Given the description of an element on the screen output the (x, y) to click on. 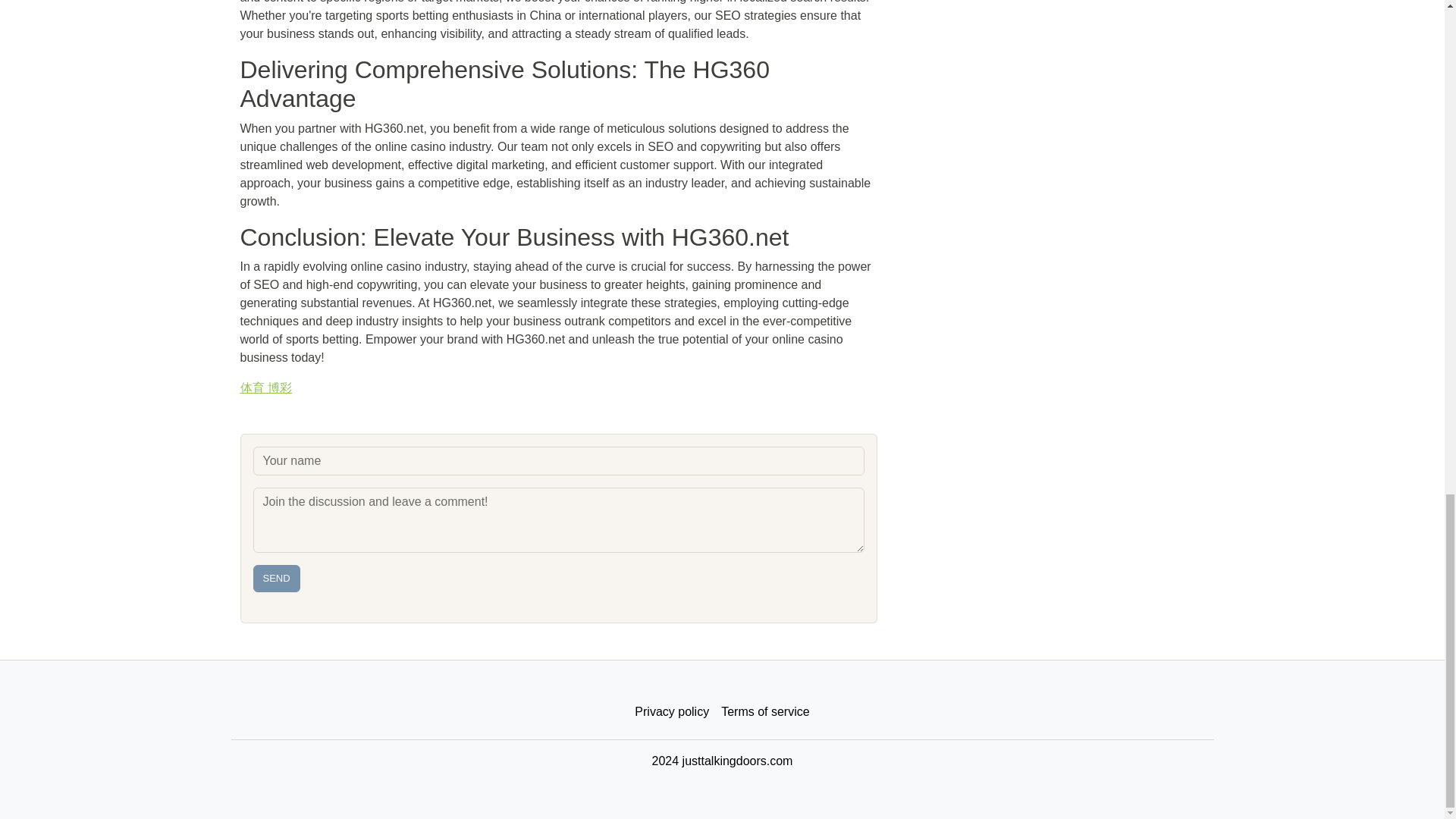
Send (276, 578)
Send (276, 578)
